Given the description of an element on the screen output the (x, y) to click on. 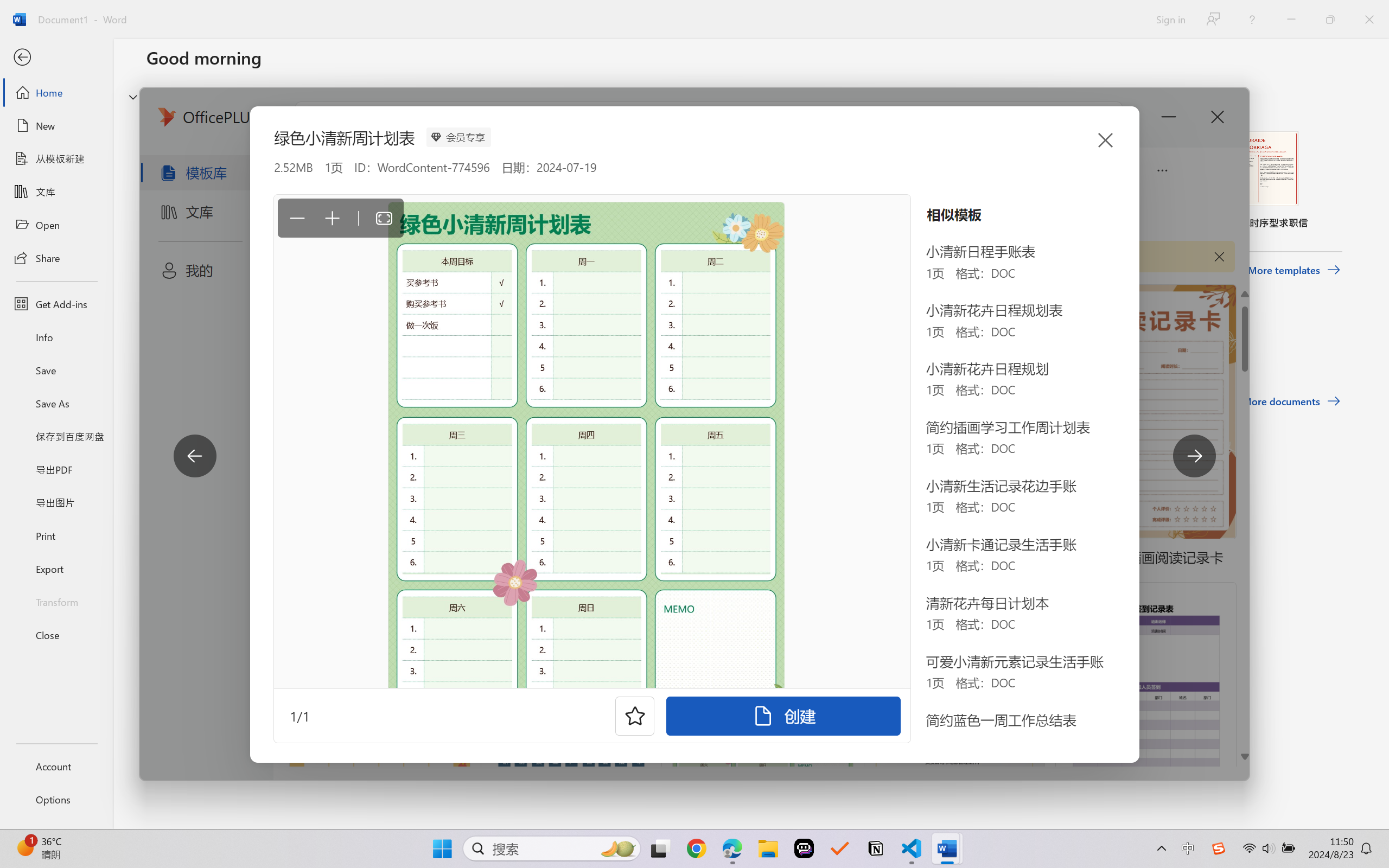
Save As (56, 403)
Sign in (1170, 18)
